Given the description of an element on the screen output the (x, y) to click on. 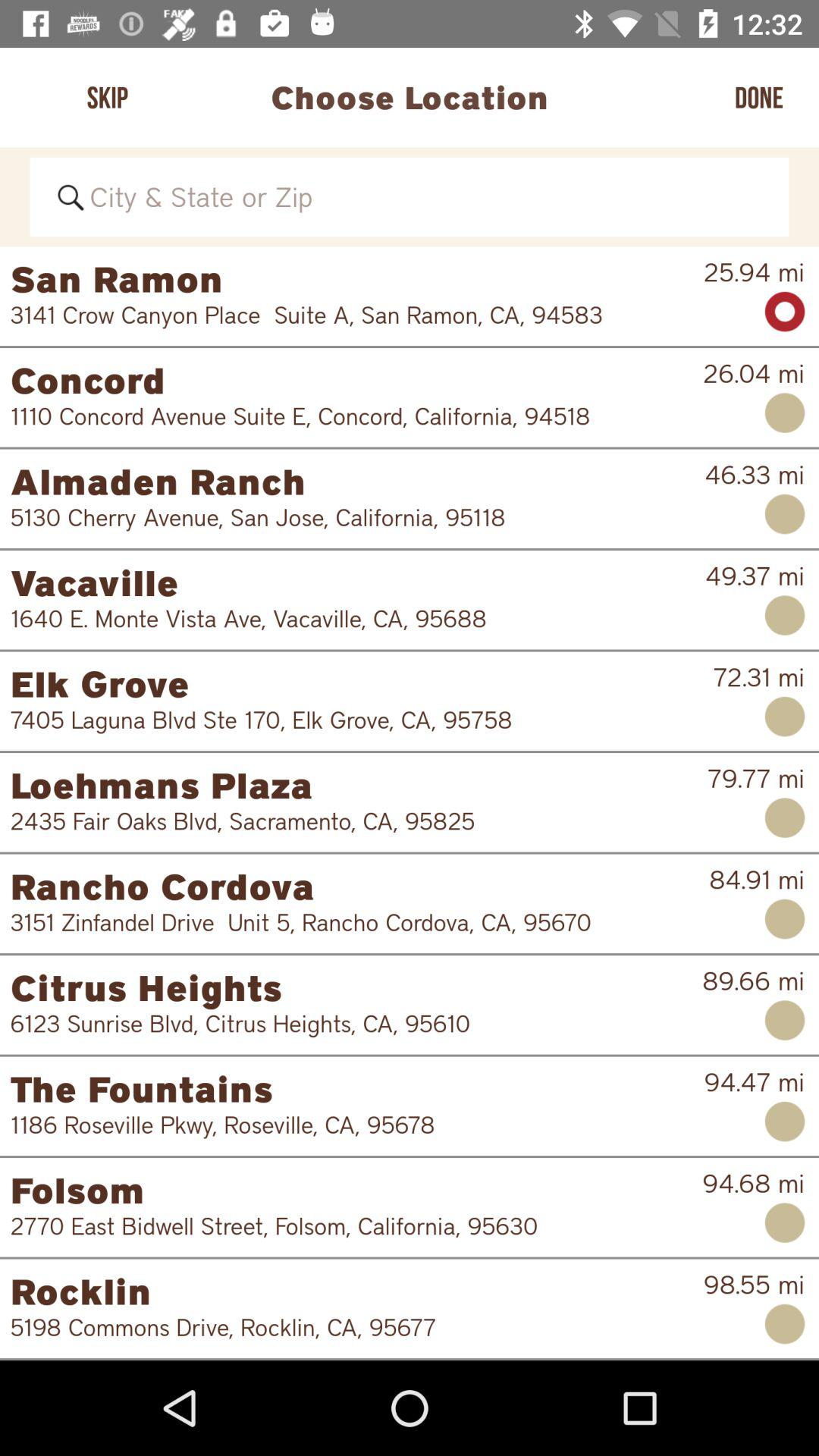
select the item next to vacaville item (754, 575)
